Given the description of an element on the screen output the (x, y) to click on. 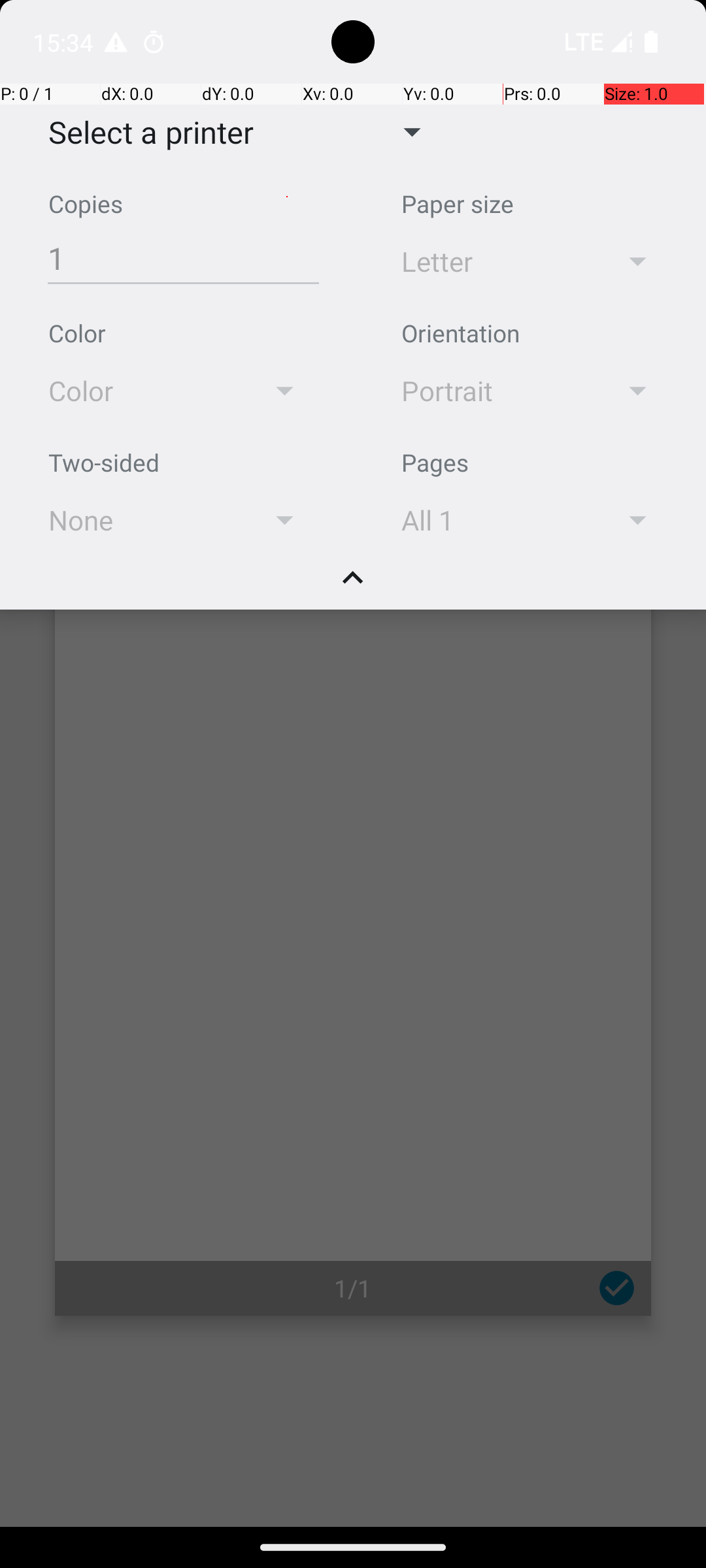
Copies Element type: android.widget.TextView (85, 203)
Paper size Element type: android.widget.TextView (457, 203)
Orientation Element type: android.widget.TextView (460, 332)
Two-sided Element type: android.widget.TextView (103, 461)
Pages Element type: android.widget.TextView (434, 461)
Collapse handle Element type: android.widget.FrameLayout (353, 585)
Select a printer Element type: android.widget.TextView (140, 131)
Letter Element type: android.widget.CheckedTextView (491, 261)
Portrait Element type: android.widget.CheckedTextView (491, 390)
All 1 Element type: android.widget.CheckedTextView (491, 519)
Page 1 of 1 Element type: android.widget.CompoundButton (352, 902)
1/1 Element type: android.widget.TextView (352, 1287)
